Given the description of an element on the screen output the (x, y) to click on. 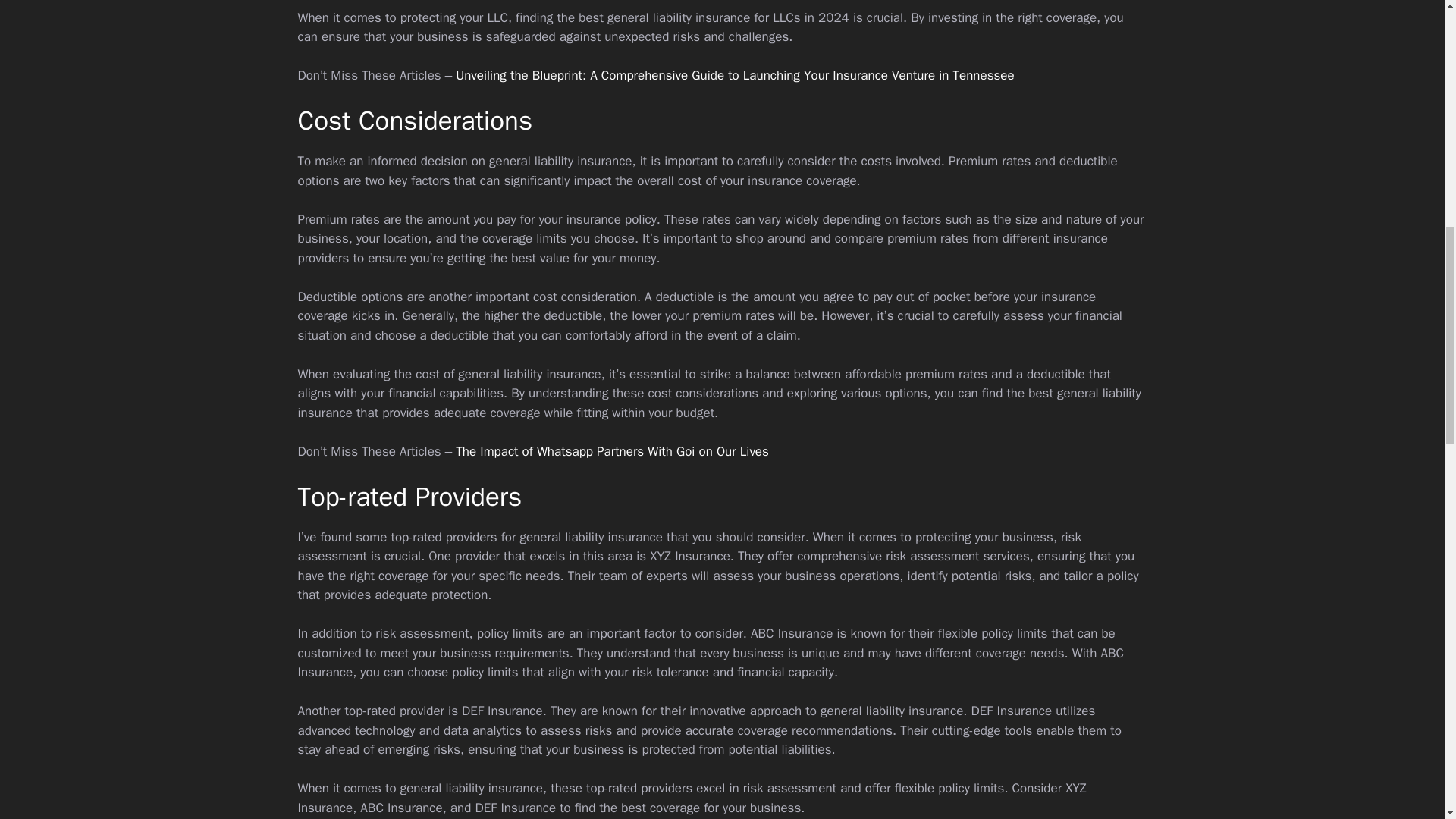
The Impact of Whatsapp Partners With Goi on Our Lives (611, 451)
The Impact of Whatsapp Partners With Goi on Our Lives (611, 451)
